Given the description of an element on the screen output the (x, y) to click on. 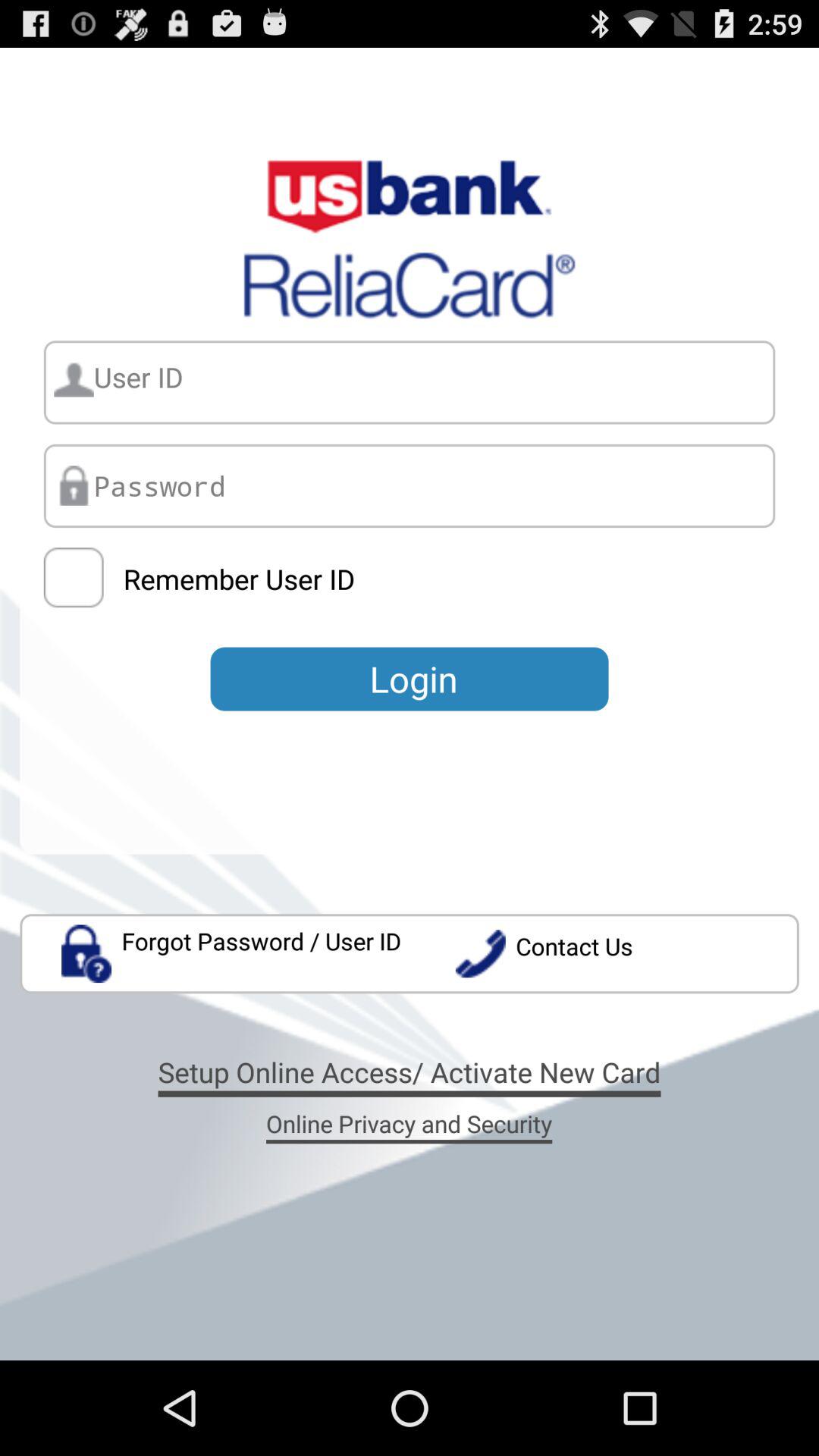
jump until the online privacy and app (409, 1123)
